Given the description of an element on the screen output the (x, y) to click on. 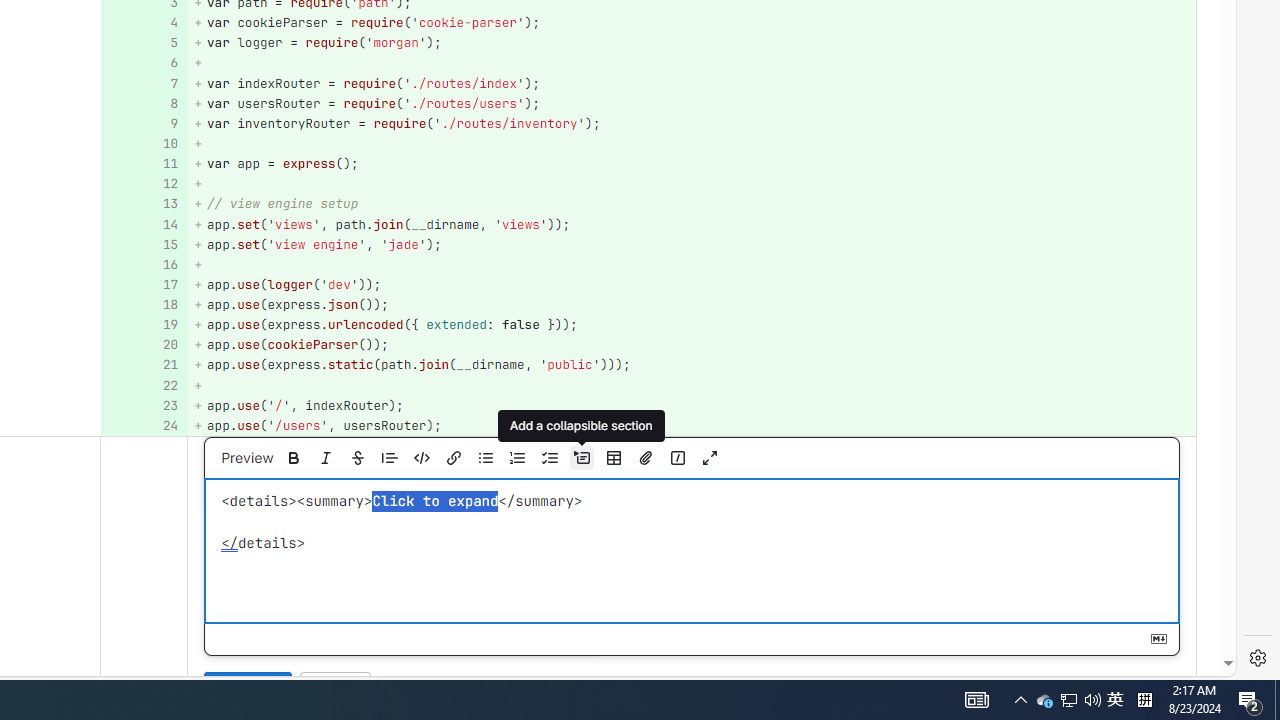
9 (141, 123)
Add a quick action (677, 457)
Add a comment to this line 19 (144, 325)
+ app.use(express.json());  (691, 305)
Insert code (421, 457)
Add italic text (Ctrl+I) (325, 457)
Add a comment to this line 23 (144, 405)
Add a comment to this line (138, 425)
+ app.use(logger('dev'));  (691, 284)
12 (141, 184)
Go full screen (709, 457)
+ app.use(cookieParser());  (691, 344)
